Given the description of an element on the screen output the (x, y) to click on. 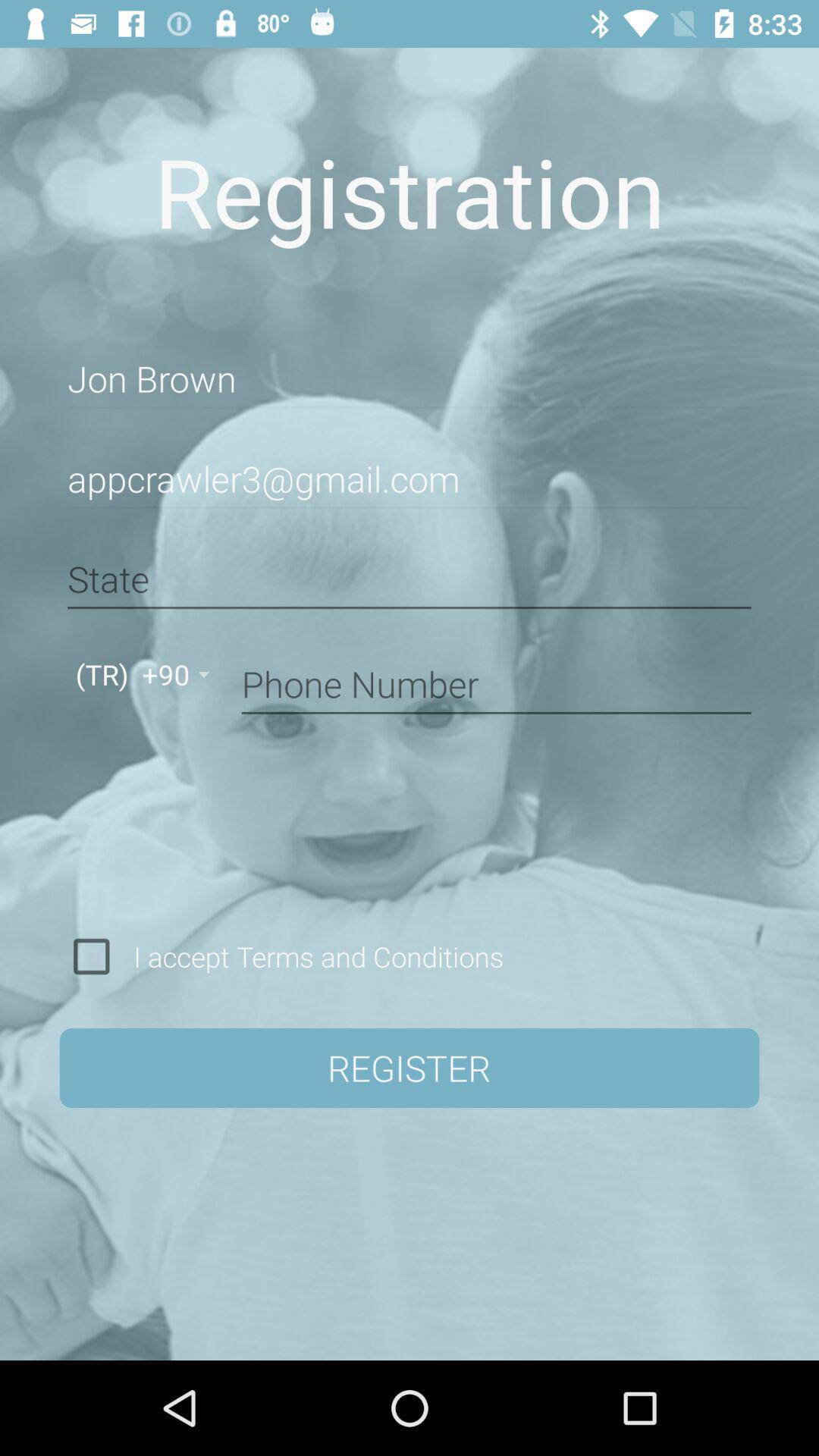
select the icon below the appcrawler3@gmail.com (409, 579)
